Given the description of an element on the screen output the (x, y) to click on. 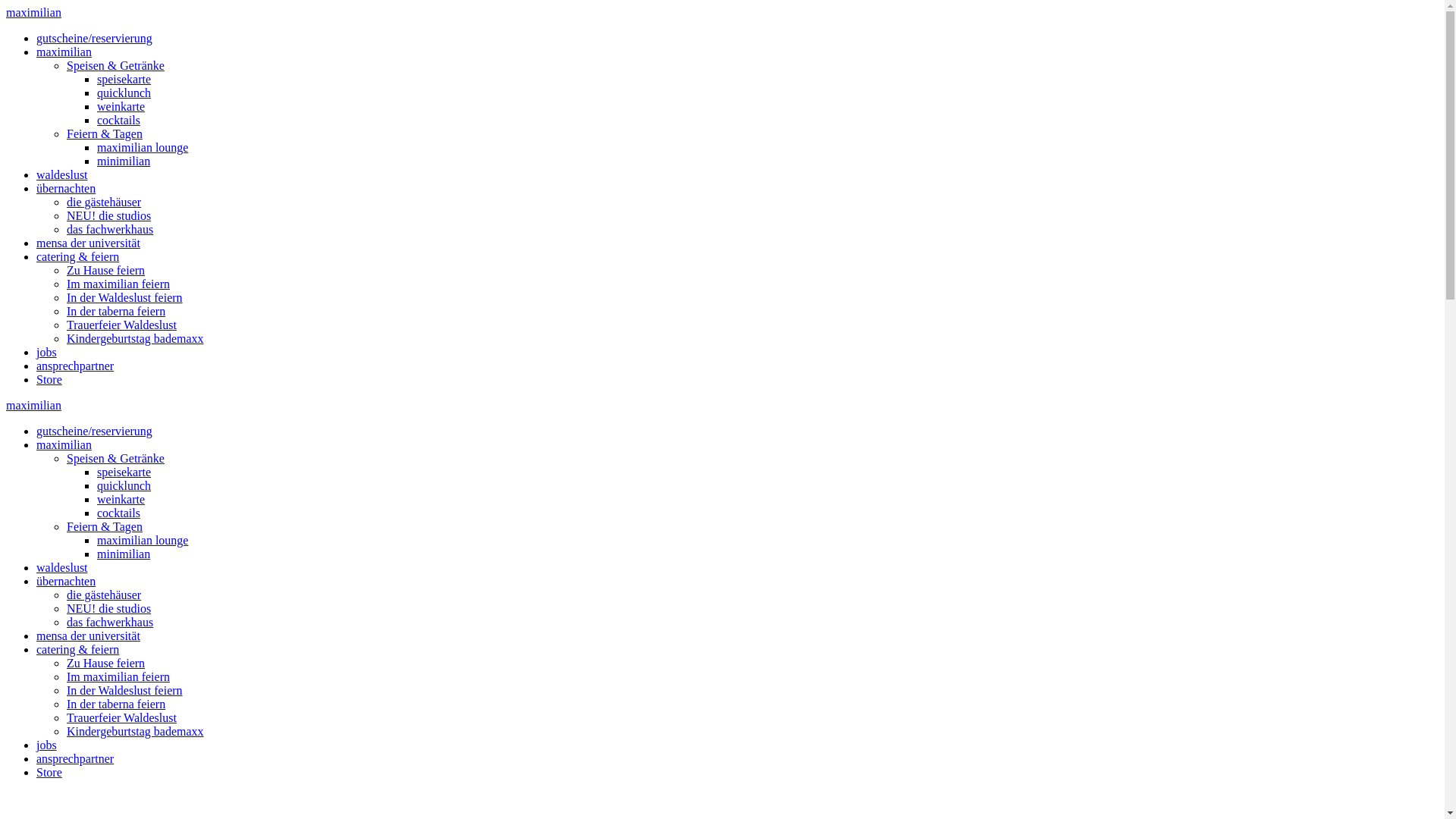
das fachwerkhaus Element type: text (109, 621)
gutscheine/reservierung Element type: text (94, 37)
Store Element type: text (49, 379)
weinkarte Element type: text (120, 498)
catering & feiern Element type: text (77, 649)
Zu Hause feiern Element type: text (105, 662)
quicklunch Element type: text (123, 485)
das fachwerkhaus Element type: text (109, 228)
Trauerfeier Waldeslust Element type: text (121, 324)
gutscheine/reservierung Element type: text (94, 430)
minimilian Element type: text (123, 160)
maximilian Element type: text (33, 12)
quicklunch Element type: text (123, 92)
Zu Hause feiern Element type: text (105, 269)
Feiern & Tagen Element type: text (104, 526)
weinkarte Element type: text (120, 106)
Kindergeburtstag bademaxx Element type: text (134, 730)
jobs Element type: text (46, 351)
Im maximilian feiern Element type: text (117, 283)
maximilian lounge Element type: text (142, 539)
maximilian lounge Element type: text (142, 147)
In der taberna feiern Element type: text (115, 703)
ansprechpartner Element type: text (74, 758)
cocktails Element type: text (118, 512)
Feiern & Tagen Element type: text (104, 133)
maximilian Element type: text (33, 404)
waldeslust Element type: text (61, 567)
NEU! die studios Element type: text (108, 608)
maximilian Element type: text (63, 444)
catering & feiern Element type: text (77, 256)
Im maximilian feiern Element type: text (117, 676)
minimilian Element type: text (123, 553)
speisekarte Element type: text (123, 471)
ansprechpartner Element type: text (74, 365)
maximilian Element type: text (63, 51)
NEU! die studios Element type: text (108, 215)
cocktails Element type: text (118, 119)
Kindergeburtstag bademaxx Element type: text (134, 338)
Trauerfeier Waldeslust Element type: text (121, 717)
In der Waldeslust feiern Element type: text (124, 690)
In der taberna feiern Element type: text (115, 310)
Store Element type: text (49, 771)
speisekarte Element type: text (123, 78)
In der Waldeslust feiern Element type: text (124, 297)
waldeslust Element type: text (61, 174)
jobs Element type: text (46, 744)
